Given the description of an element on the screen output the (x, y) to click on. 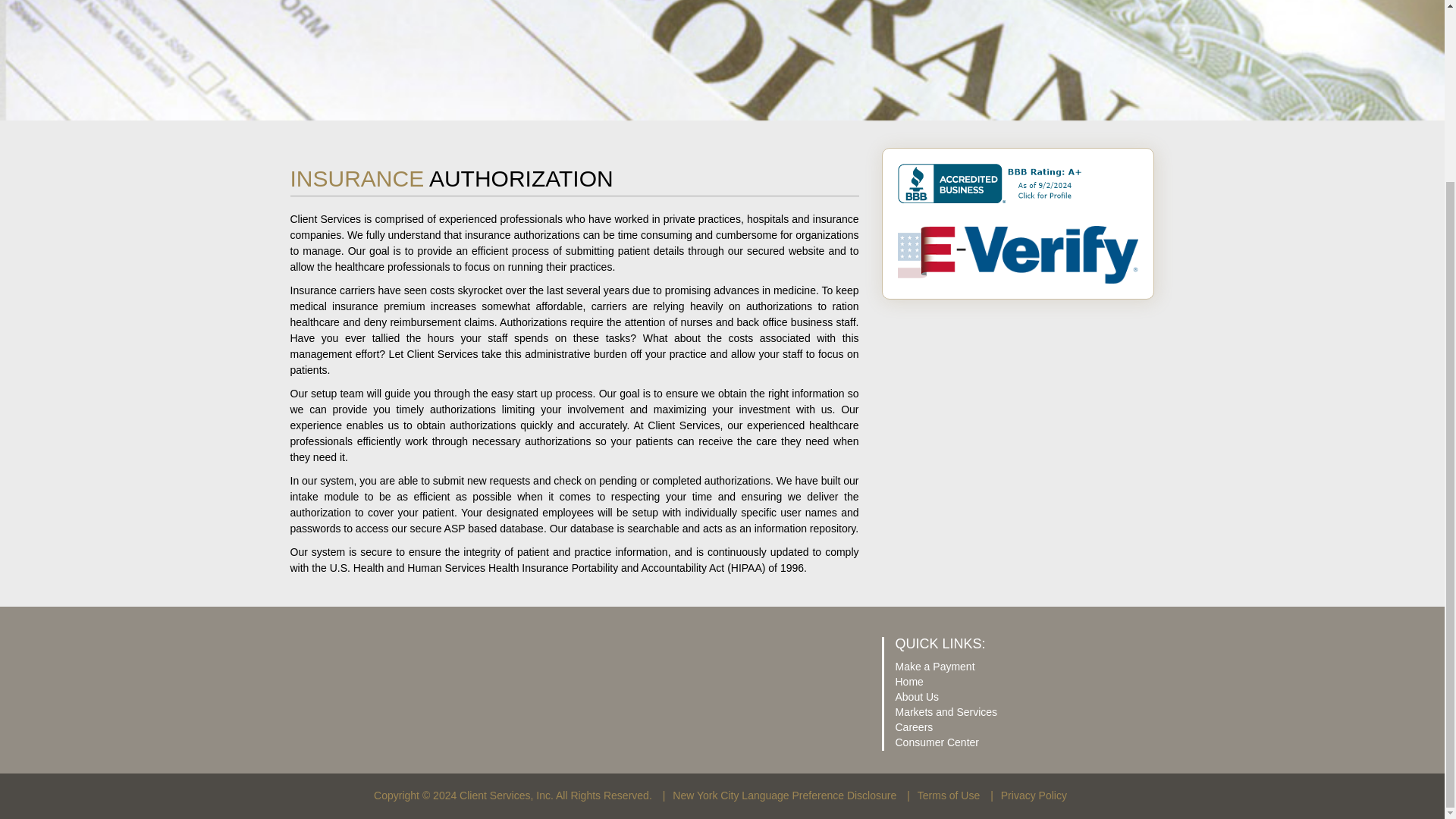
Terms of Use (948, 795)
Consumer Center (936, 742)
New York City Language Preference Disclosure (784, 795)
Careers (914, 727)
About Us (917, 696)
Markets and Services (946, 711)
Privacy Policy (1034, 795)
Make a Payment (934, 666)
Home (909, 681)
